Given the description of an element on the screen output the (x, y) to click on. 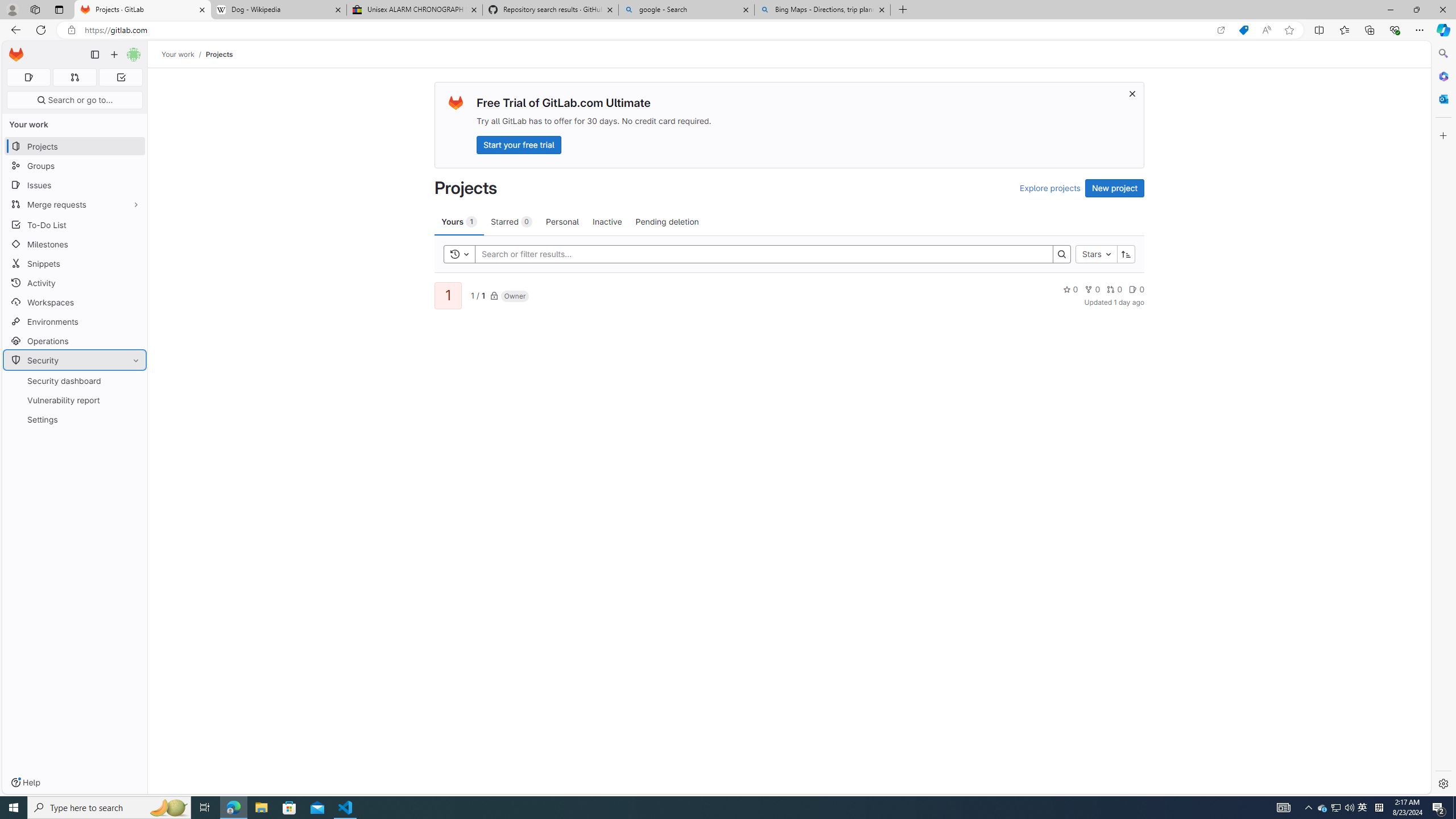
SecuritySecurity dashboardVulnerability reportSettings (74, 389)
Activity (74, 282)
Security dashboard (74, 380)
Operations (74, 340)
Merge requests (74, 203)
Projects (218, 53)
Environments (74, 321)
Security (74, 359)
